Given the description of an element on the screen output the (x, y) to click on. 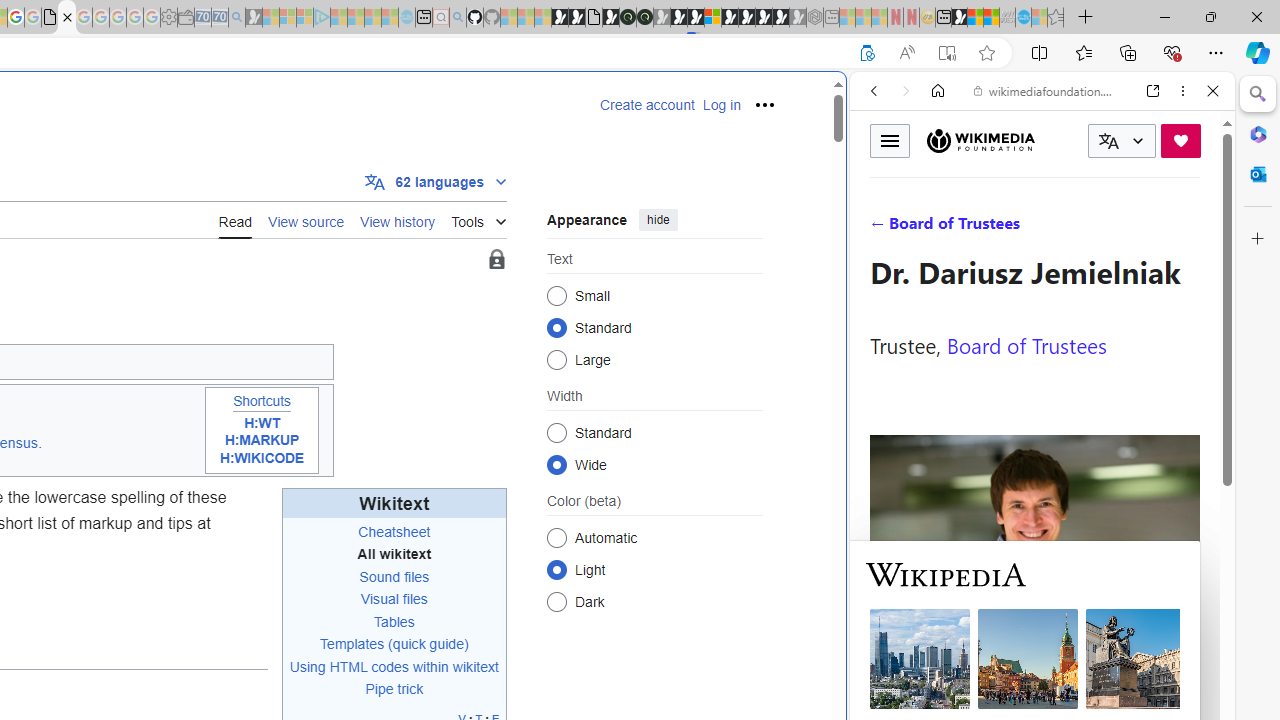
Play Cave FRVR in your browser | Games from Microsoft Start (678, 17)
Read (235, 219)
Page semi-protected (496, 259)
Pipe trick (393, 689)
Microsoft Start - Sleeping (372, 17)
Class: i icon icon-translate language-switcher__icon (1108, 141)
Home (938, 91)
Tabs you've opened (276, 265)
